Given the description of an element on the screen output the (x, y) to click on. 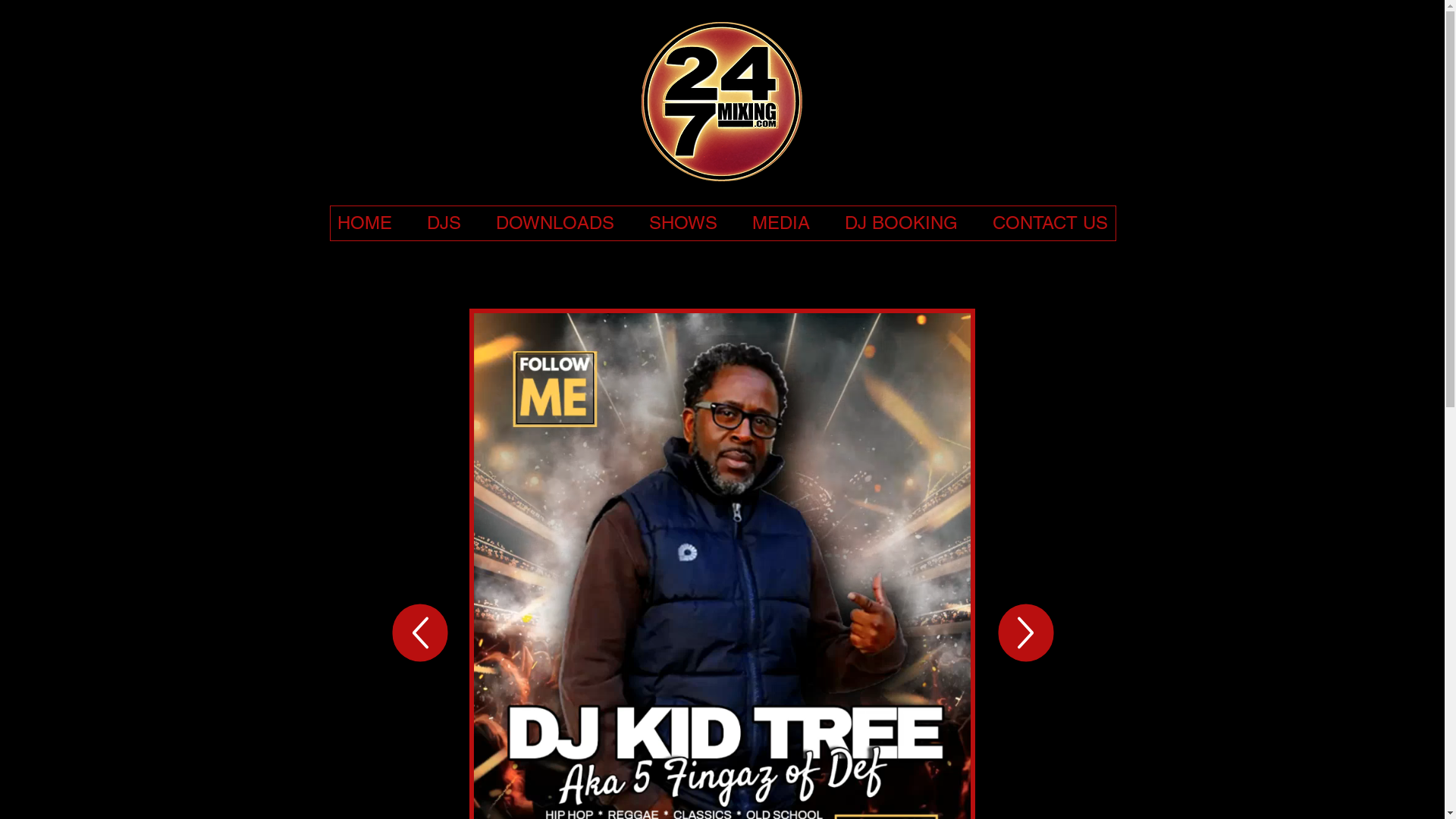
MEDIA Element type: text (780, 222)
CONTACT US Element type: text (1049, 222)
DJ BOOKING Element type: text (900, 222)
DJS Element type: text (443, 222)
SHOWS Element type: text (683, 222)
DOWNLOADS Element type: text (555, 222)
HOME Element type: text (364, 222)
